Given the description of an element on the screen output the (x, y) to click on. 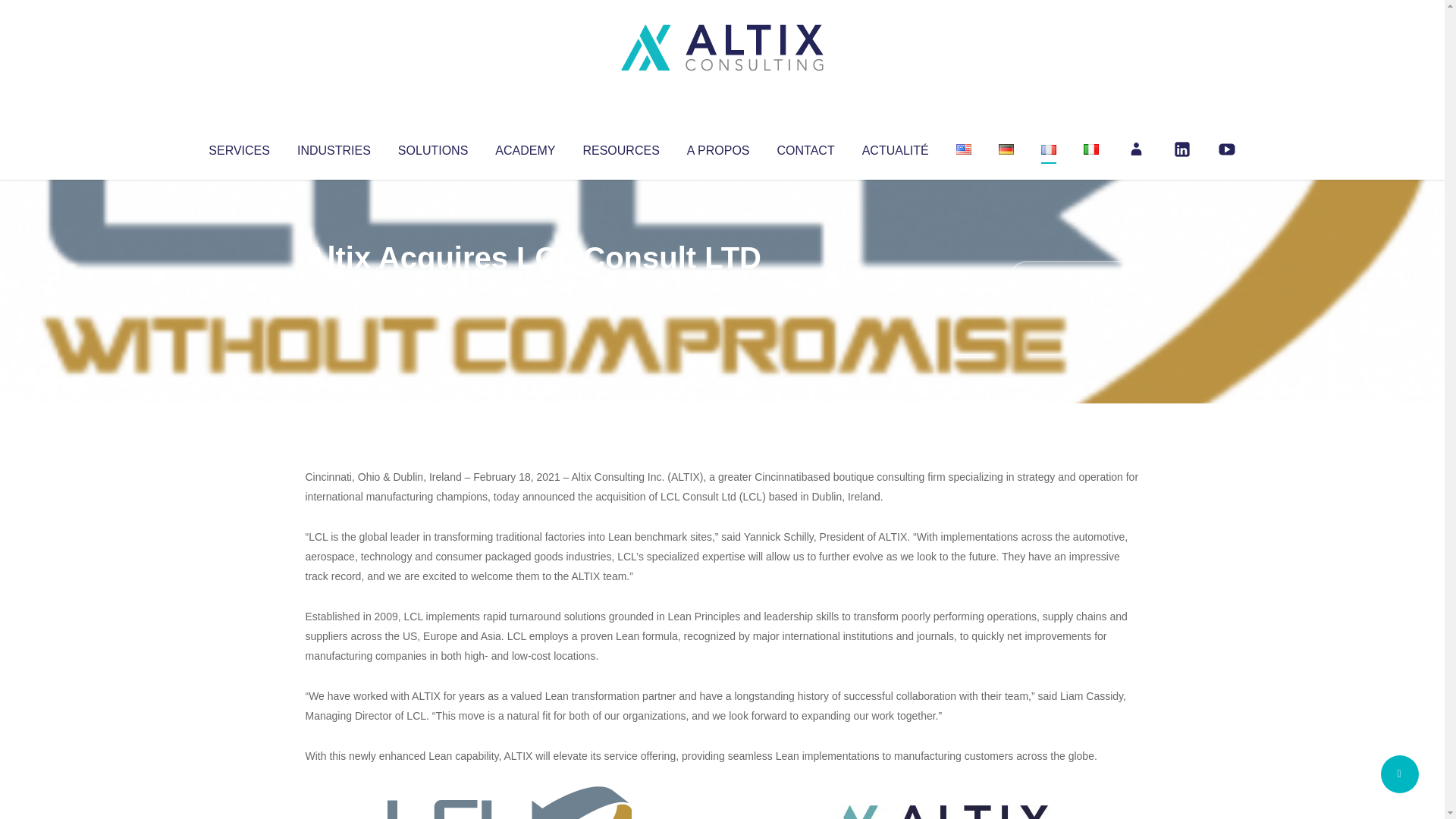
RESOURCES (620, 146)
Articles par Altix (333, 287)
SERVICES (238, 146)
No Comments (1073, 278)
Altix (333, 287)
A PROPOS (718, 146)
SOLUTIONS (432, 146)
Uncategorized (530, 287)
INDUSTRIES (334, 146)
ACADEMY (524, 146)
